Given the description of an element on the screen output the (x, y) to click on. 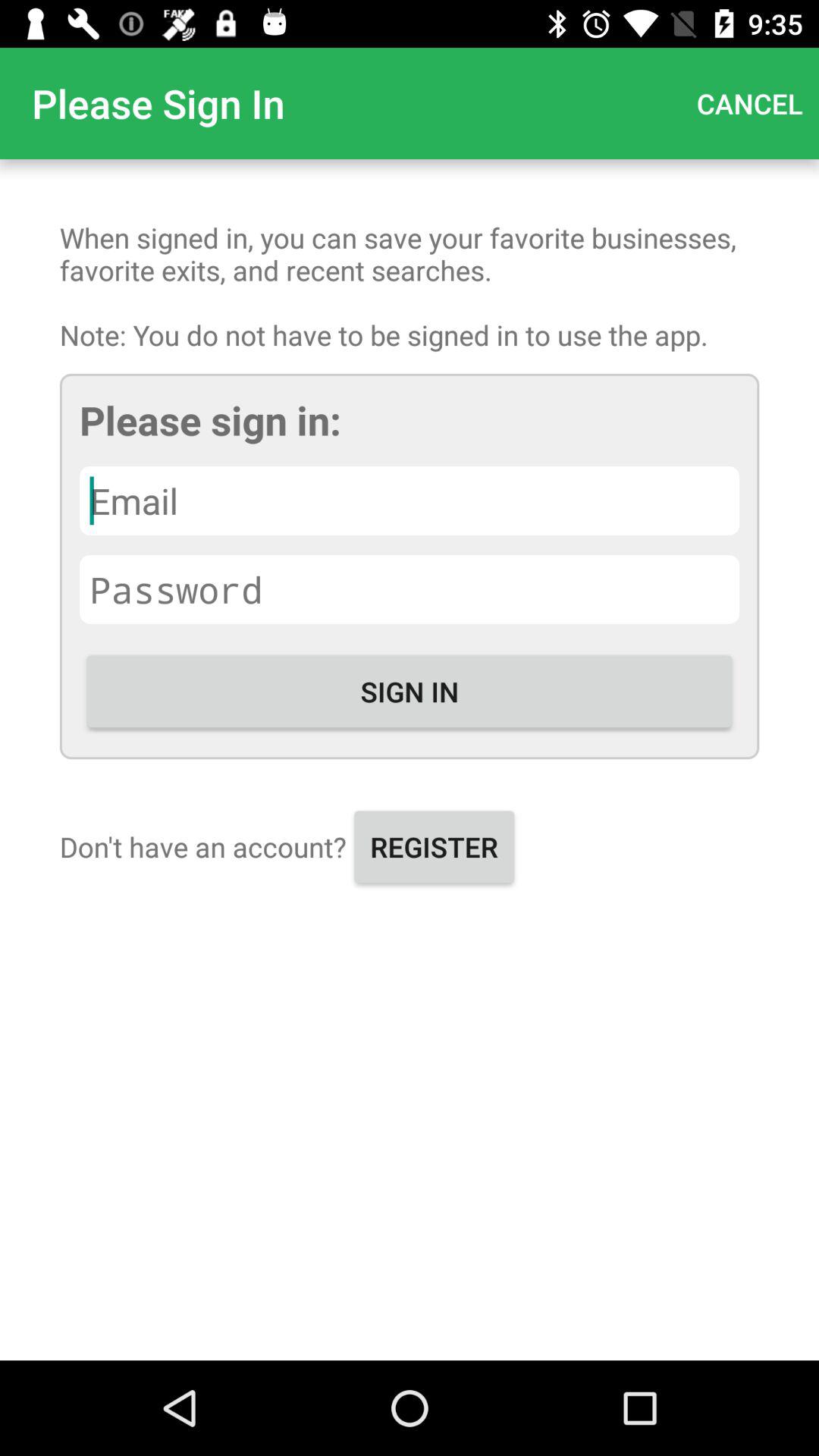
turn off the icon at the top right corner (749, 103)
